Given the description of an element on the screen output the (x, y) to click on. 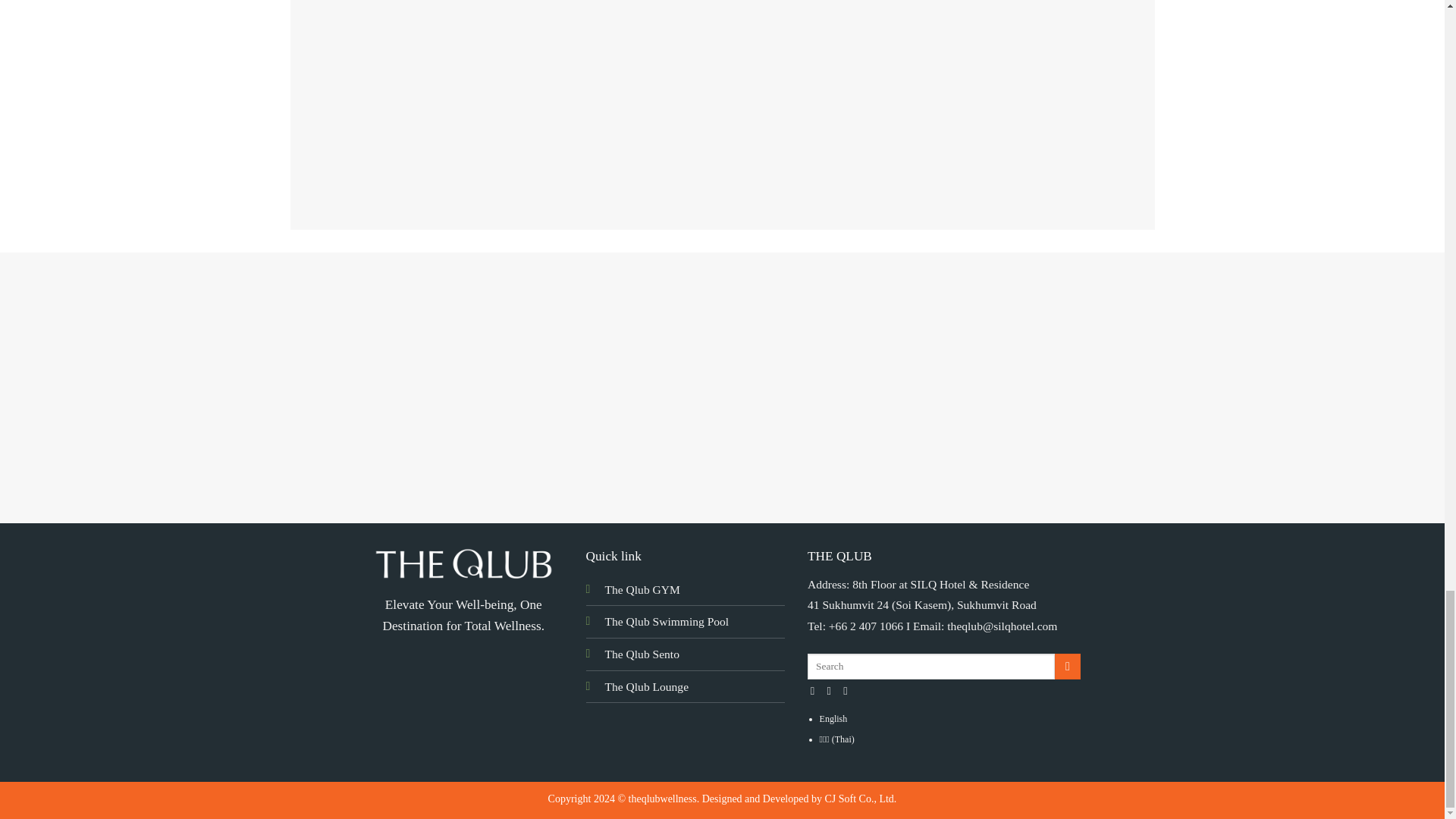
English (833, 718)
The Qlub GYM (642, 589)
The Qlub Swimming Pool (667, 621)
CJ Soft Co., Ltd. (860, 797)
The Qlub Lounge (646, 686)
Follow on Facebook (816, 690)
The Qlub Sento (642, 653)
Send us an email (848, 690)
Follow on Instagram (832, 690)
